Given the description of an element on the screen output the (x, y) to click on. 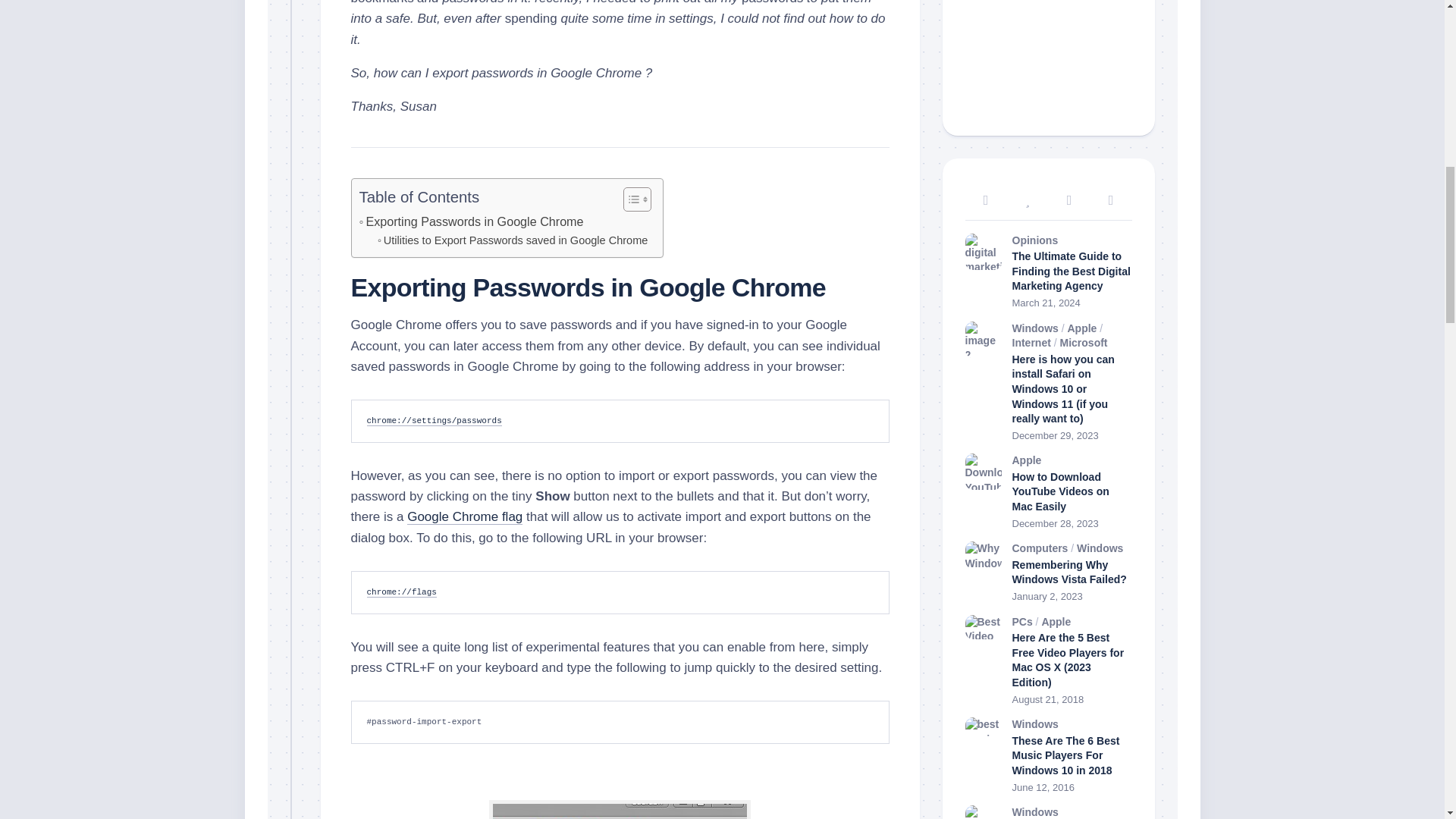
Tags (1111, 200)
Recent Posts (984, 200)
Exporting Passwords in Google Chrome (471, 221)
Recent Comments (1068, 200)
Utilities to Export Passwords saved in Google Chrome (512, 240)
Popular Posts (1027, 200)
Exporting Passwords in Google Chrome (471, 221)
Utilities to Export Passwords saved in Google Chrome (512, 240)
